Given the description of an element on the screen output the (x, y) to click on. 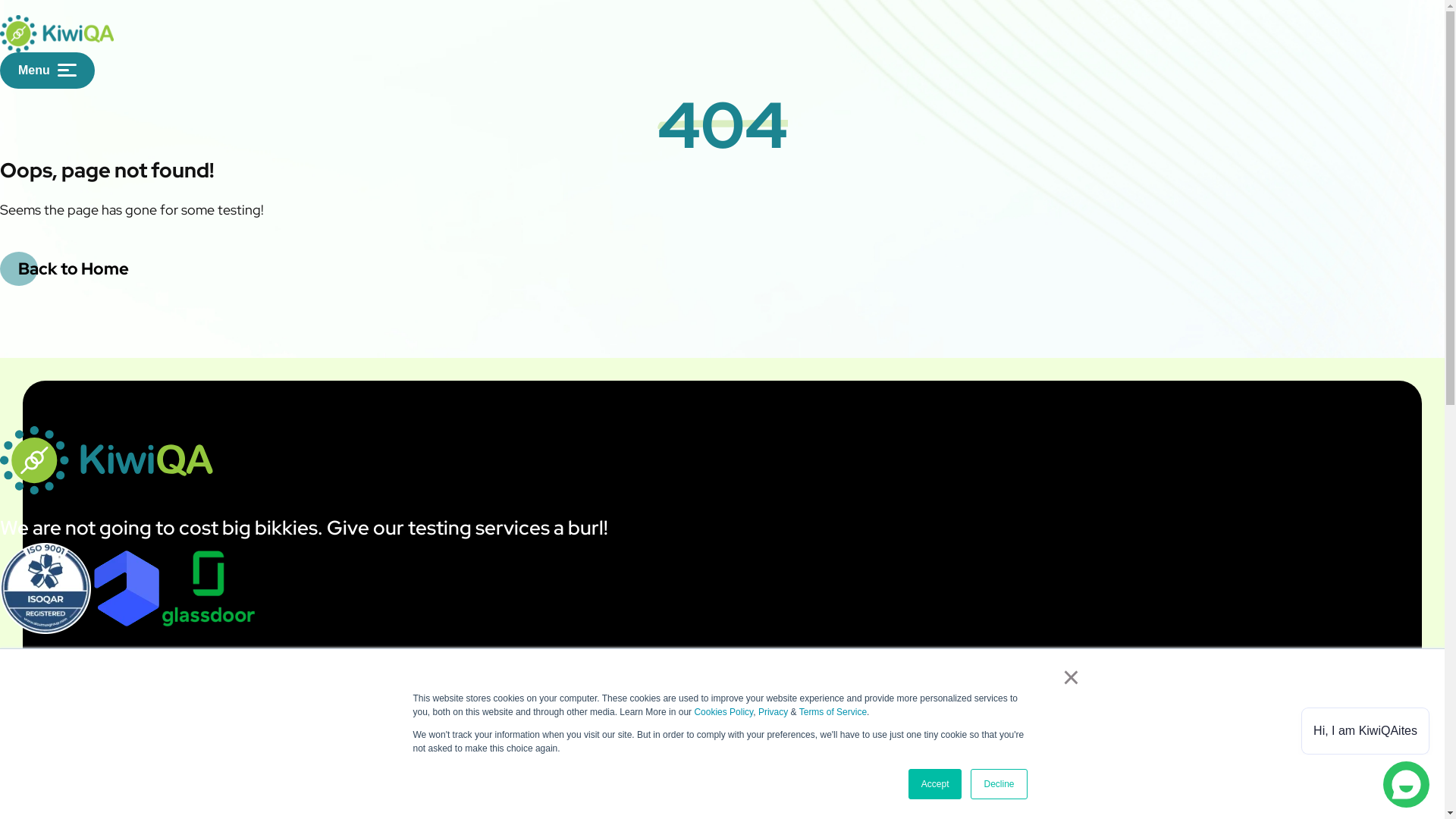
Our Philosophy Element type: text (40, 784)
Accept Element type: text (935, 783)
Privacy Element type: text (772, 711)
K-FAST Element type: text (998, 784)
Media & Broadcasting Element type: text (546, 784)
Cookies Policy Element type: text (723, 711)
Back to Home Element type: text (73, 268)
Menu Element type: text (47, 70)
Decline Element type: text (998, 783)
Terms of Service Element type: text (832, 711)
